Given the description of an element on the screen output the (x, y) to click on. 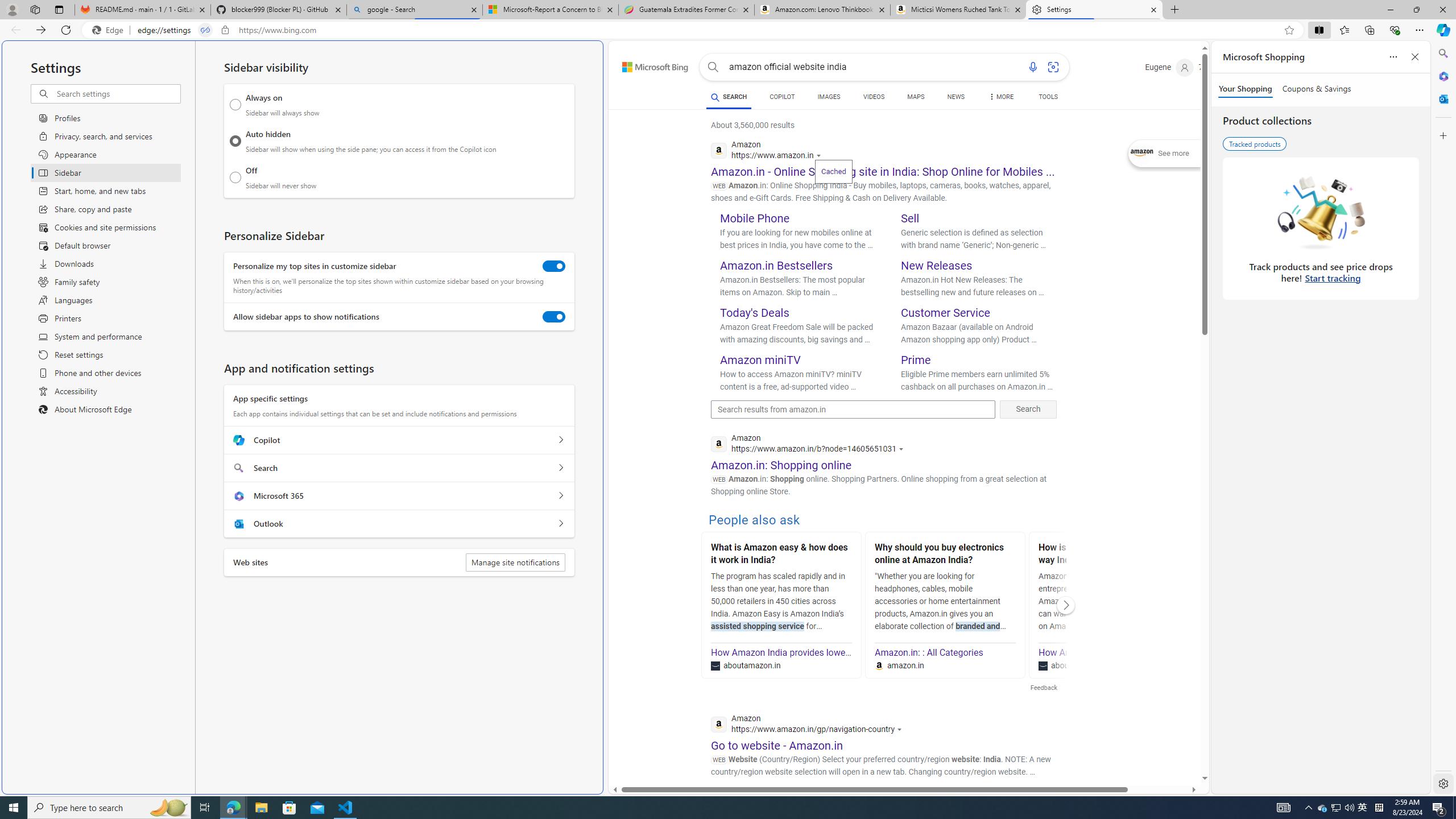
Eugene (1168, 67)
Search results from amazon.in (852, 409)
Amazon.in: : All Categories (928, 652)
Edge (110, 29)
SEARCH (728, 96)
MORE (1000, 98)
How is Amazon easy changing the way India buys? (1108, 555)
MAPS (915, 96)
Manage site notifications (514, 562)
Dropdown Menu (1000, 96)
